Given the description of an element on the screen output the (x, y) to click on. 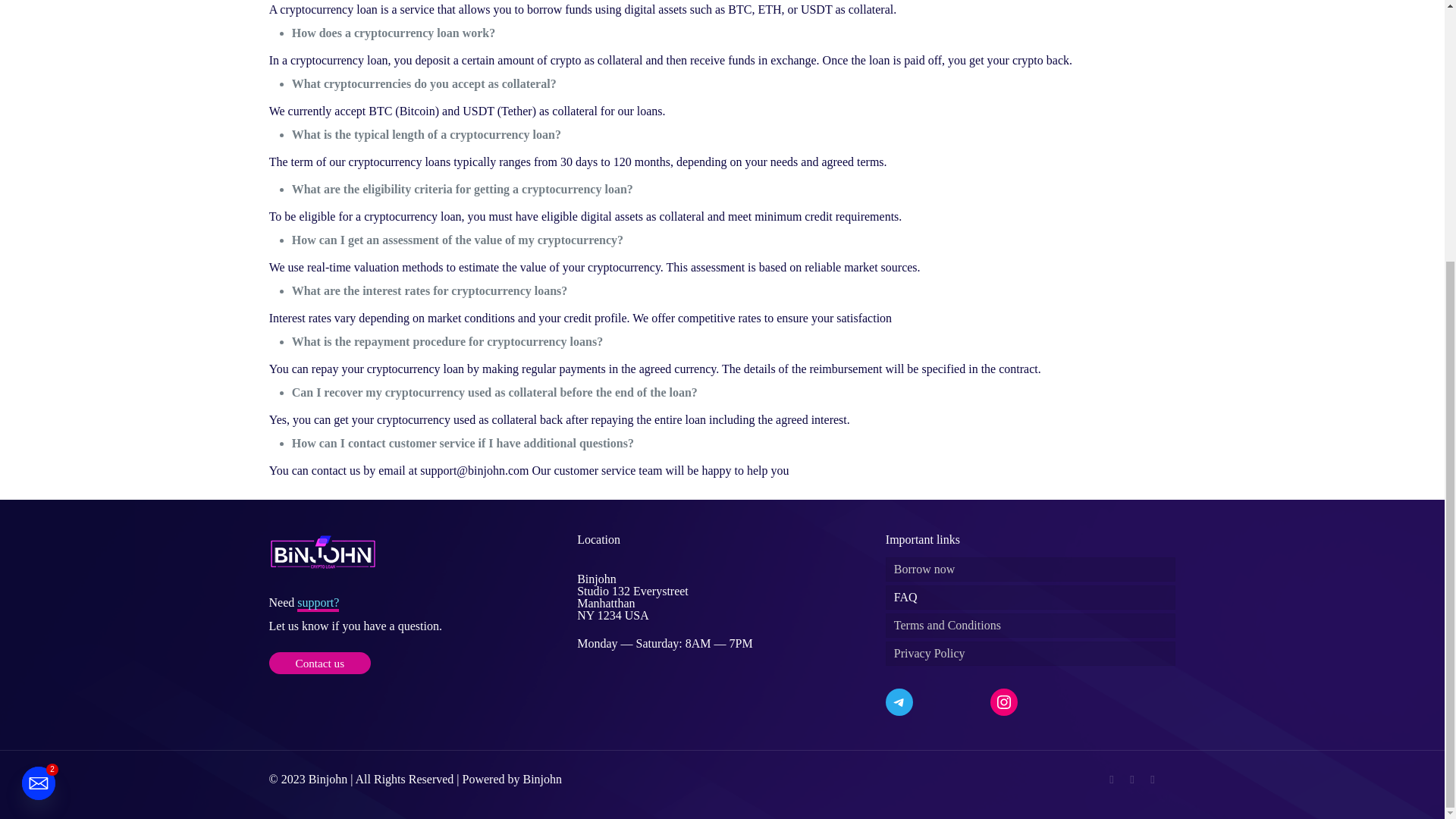
Borrow now (1030, 569)
Facebook (1111, 779)
Instagram (1152, 779)
Privacy Policy (1030, 653)
Contact us (319, 662)
2 (38, 408)
Twitter (1132, 779)
Terms and Conditions (1030, 625)
FAQ (1030, 597)
